Given the description of an element on the screen output the (x, y) to click on. 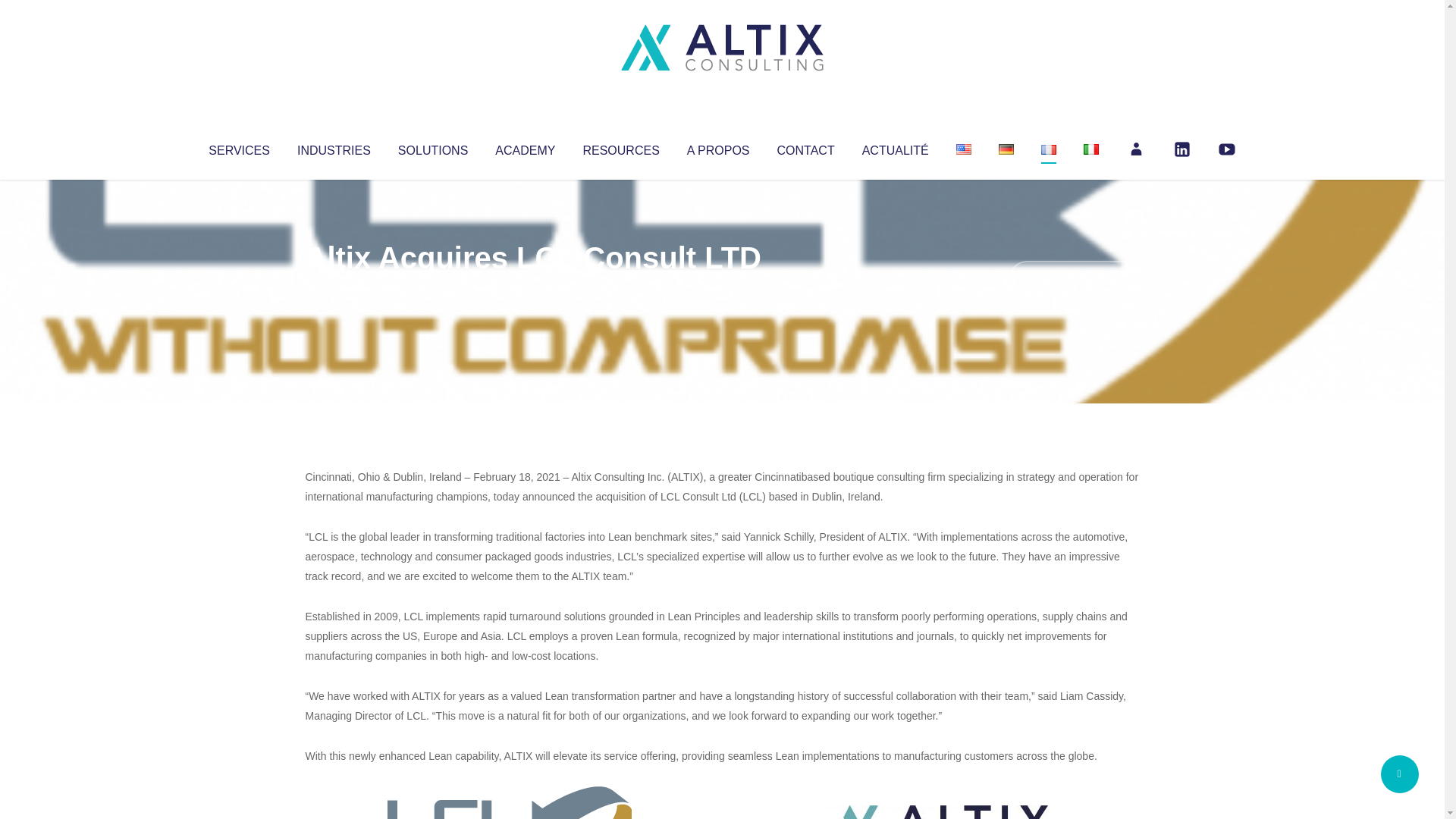
Altix (333, 287)
ACADEMY (524, 146)
INDUSTRIES (334, 146)
RESOURCES (620, 146)
No Comments (1073, 278)
SERVICES (238, 146)
Articles par Altix (333, 287)
SOLUTIONS (432, 146)
Uncategorized (530, 287)
A PROPOS (718, 146)
